Given the description of an element on the screen output the (x, y) to click on. 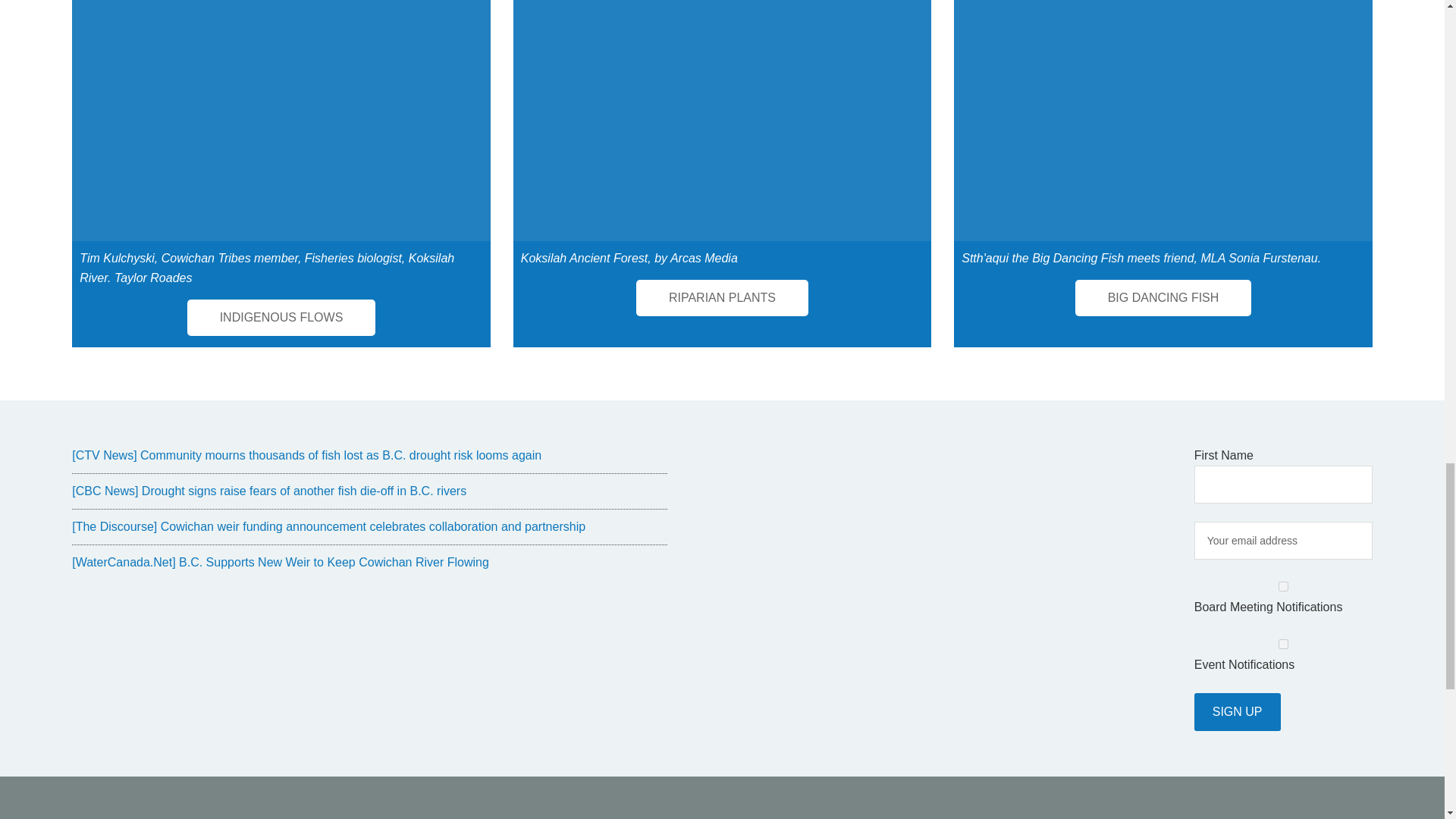
Event Notifications (1283, 644)
Board Meeting Notifications (1283, 586)
Sign up (1237, 711)
